Given the description of an element on the screen output the (x, y) to click on. 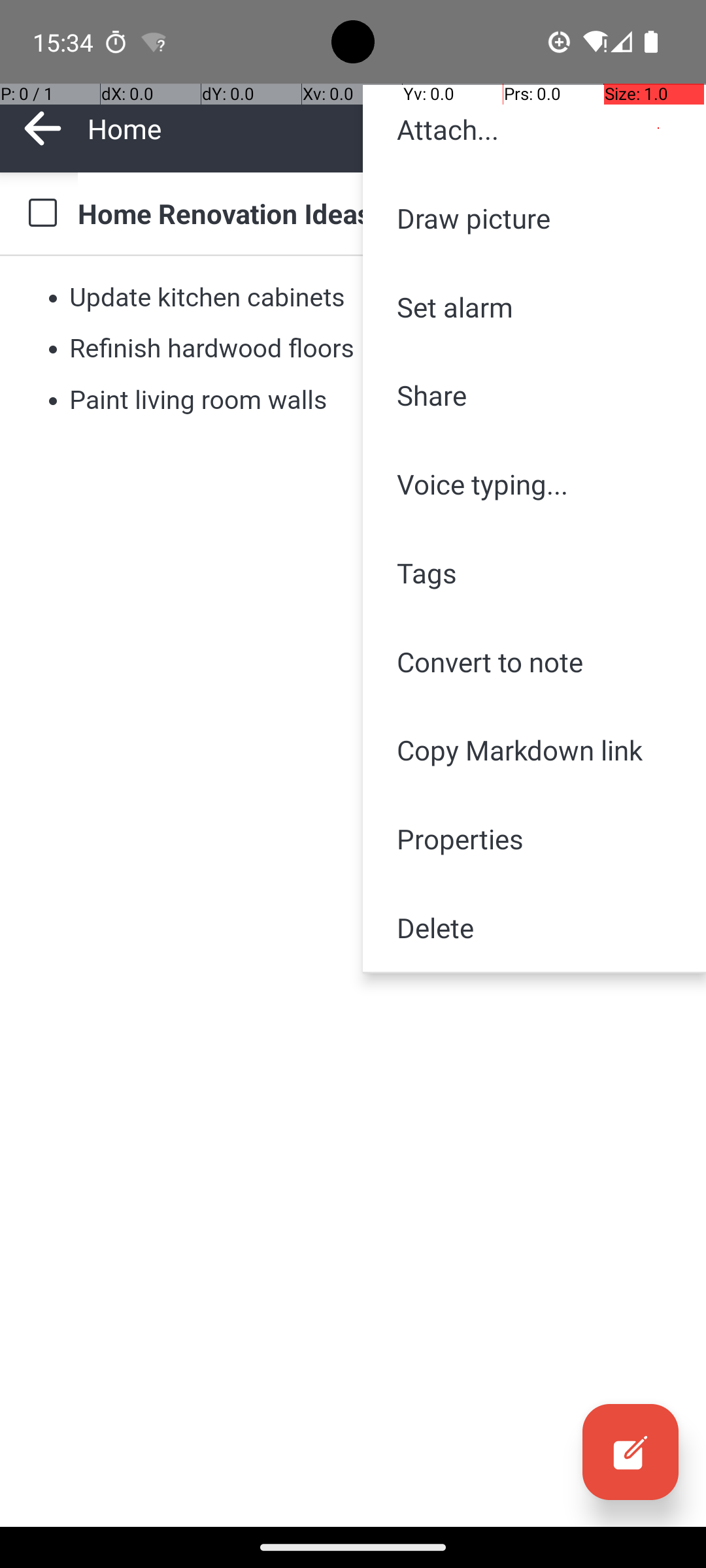
Home Renovation Ideas Element type: android.widget.EditText (378, 213)
Set alarm Element type: android.widget.TextView (534, 306)
Convert to note Element type: android.widget.TextView (534, 661)
•  Element type: android.view.View (52, 296)
Update kitchen cabinets Element type: android.widget.TextView (207, 296)
Refinish hardwood floors Element type: android.widget.TextView (211, 348)
Paint living room walls Element type: android.widget.TextView (197, 399)
